Given the description of an element on the screen output the (x, y) to click on. 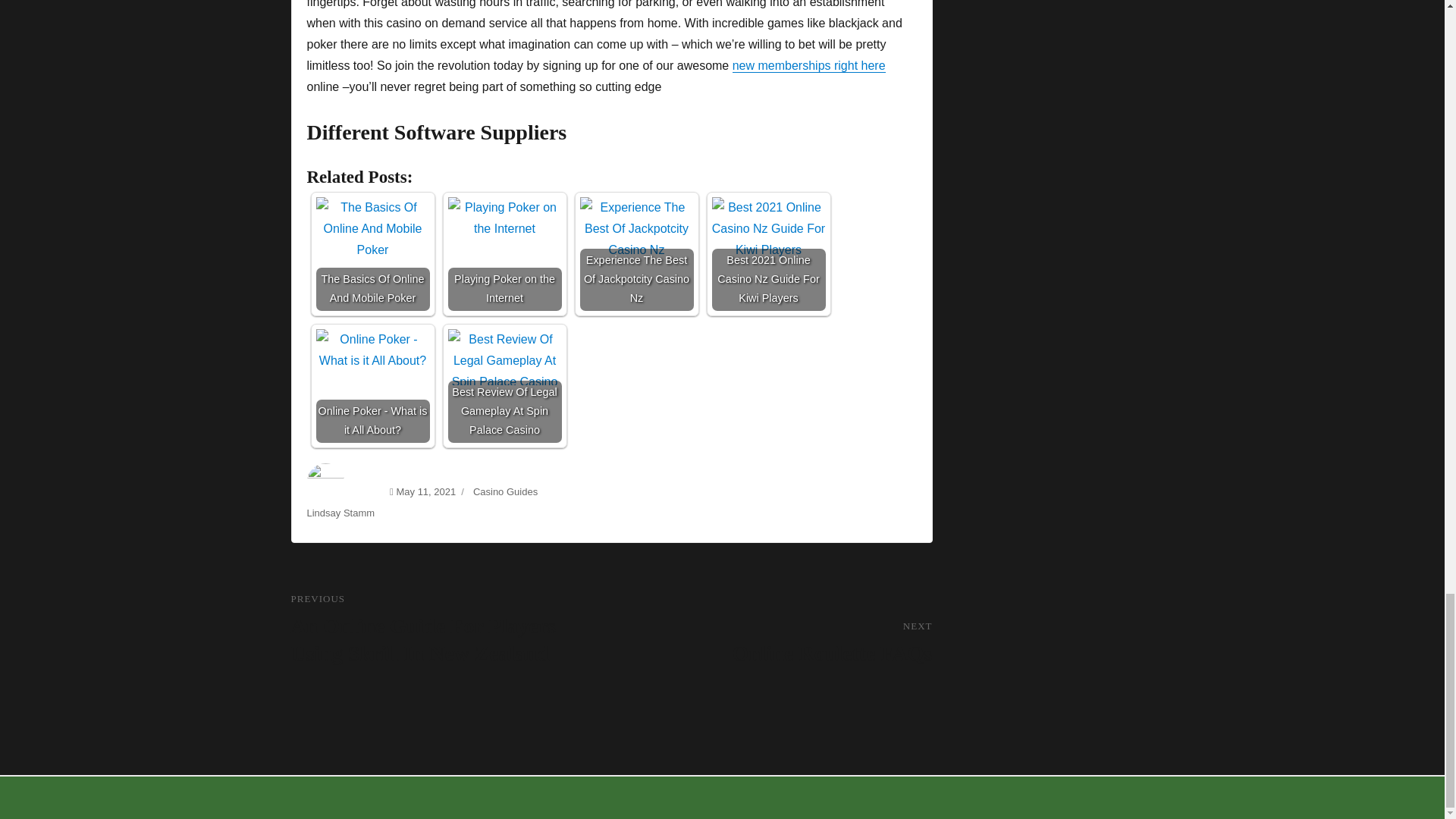
new memberships right here (808, 65)
Playing Poker on the Internet (503, 254)
Best 2021 Online Casino Nz Guide For Kiwi Players (768, 254)
Online Poker - What is it All About? (372, 386)
Best 2021 Online Casino Nz Guide For Kiwi Players (768, 254)
Experience The Best Of Jackpotcity Casino Nz (771, 642)
The Basics Of Online And Mobile Poker (636, 254)
Casino Guides (372, 254)
The Basics Of Online And Mobile Poker (505, 491)
